Given the description of an element on the screen output the (x, y) to click on. 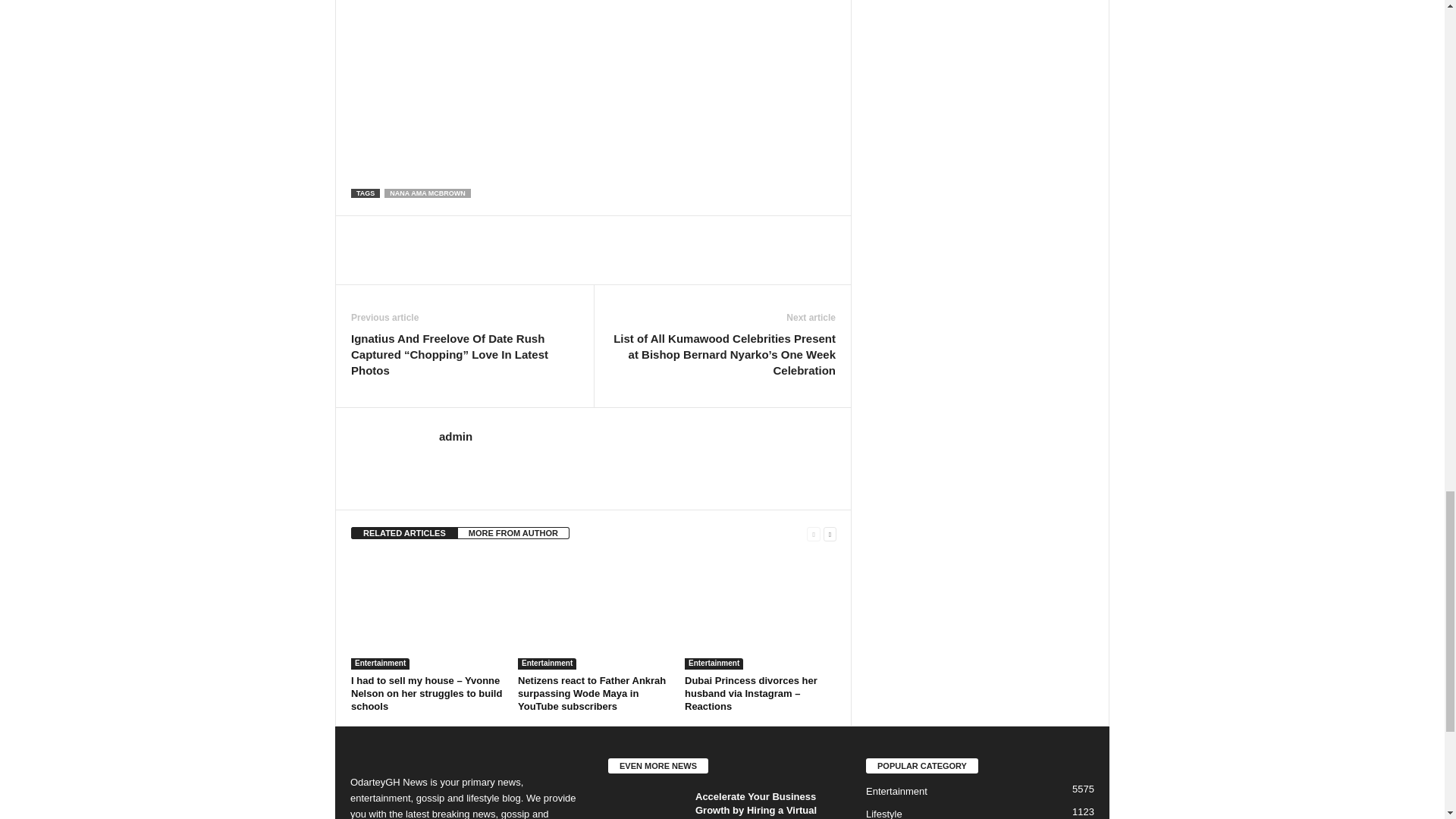
YouTube video player (563, 51)
